Given the description of an element on the screen output the (x, y) to click on. 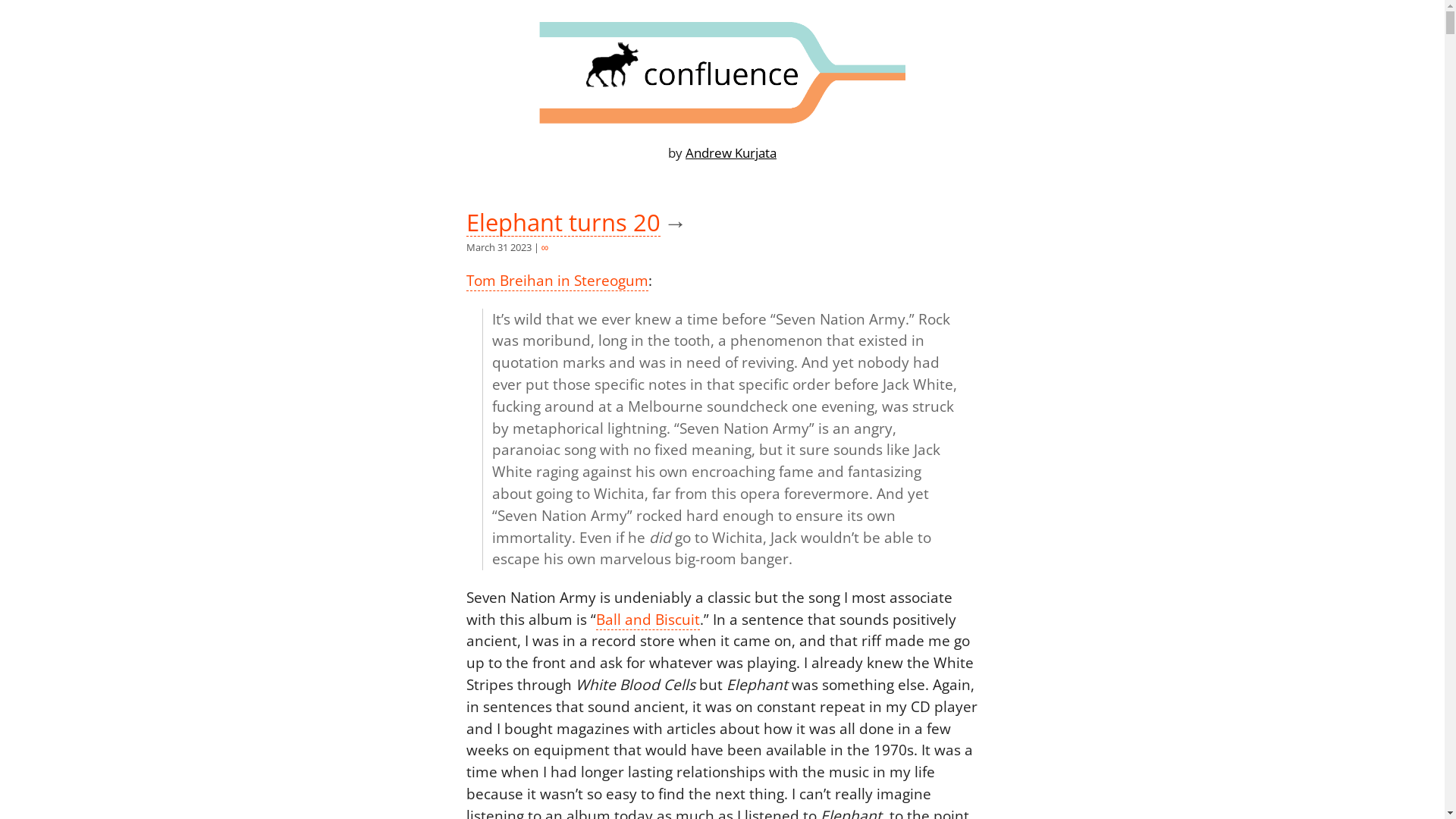
March 31 2023 Element type: text (497, 247)
Tom Breihan in Stereogum Element type: text (556, 280)
Elephant turns 20 Element type: text (562, 225)
Andrew Kurjata Element type: text (730, 152)
confluence, by andrew kurjata Element type: hover (722, 72)
Ball and Biscuit Element type: text (647, 619)
